Given the description of an element on the screen output the (x, y) to click on. 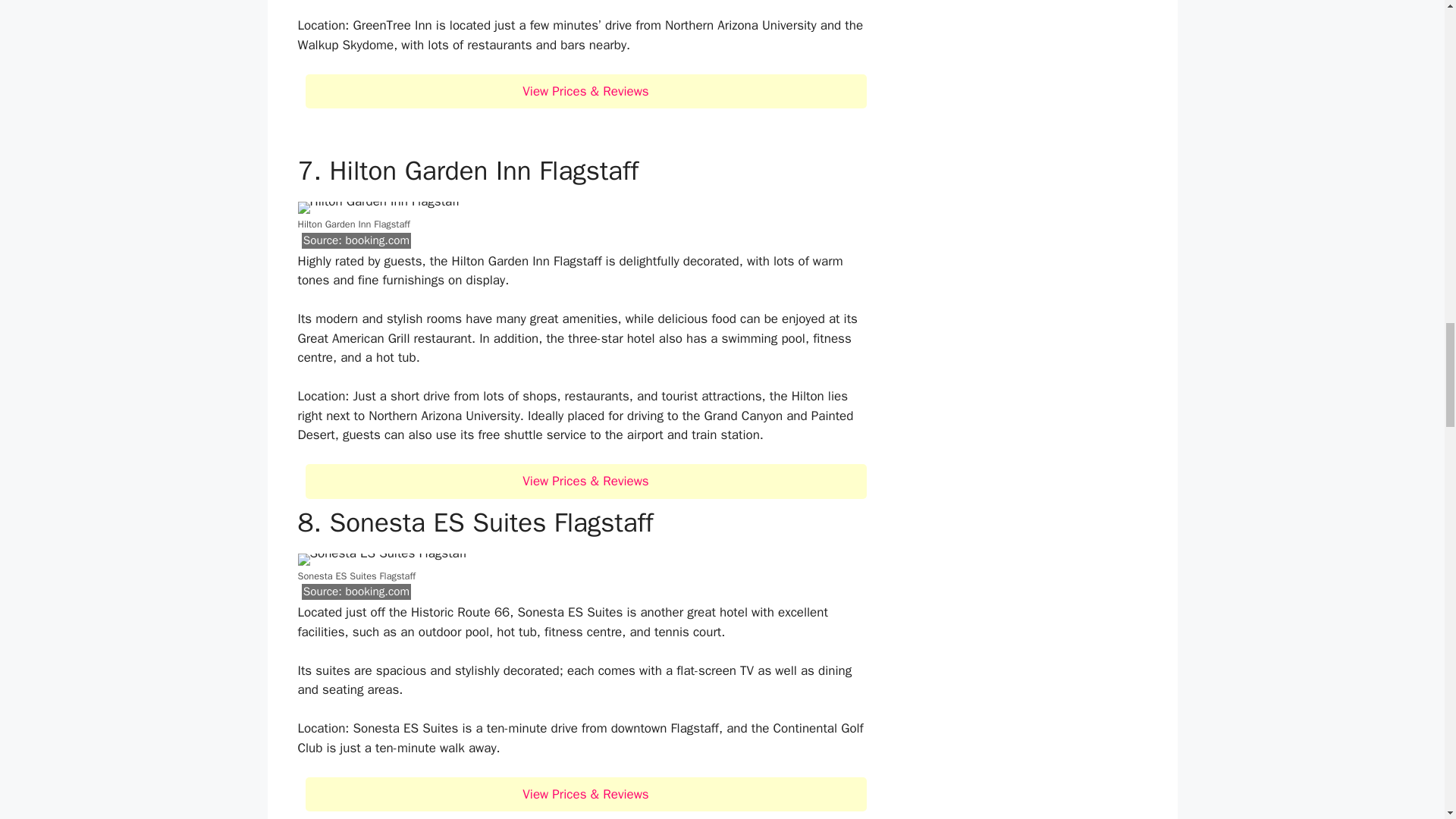
booking.com (377, 240)
